Given the description of an element on the screen output the (x, y) to click on. 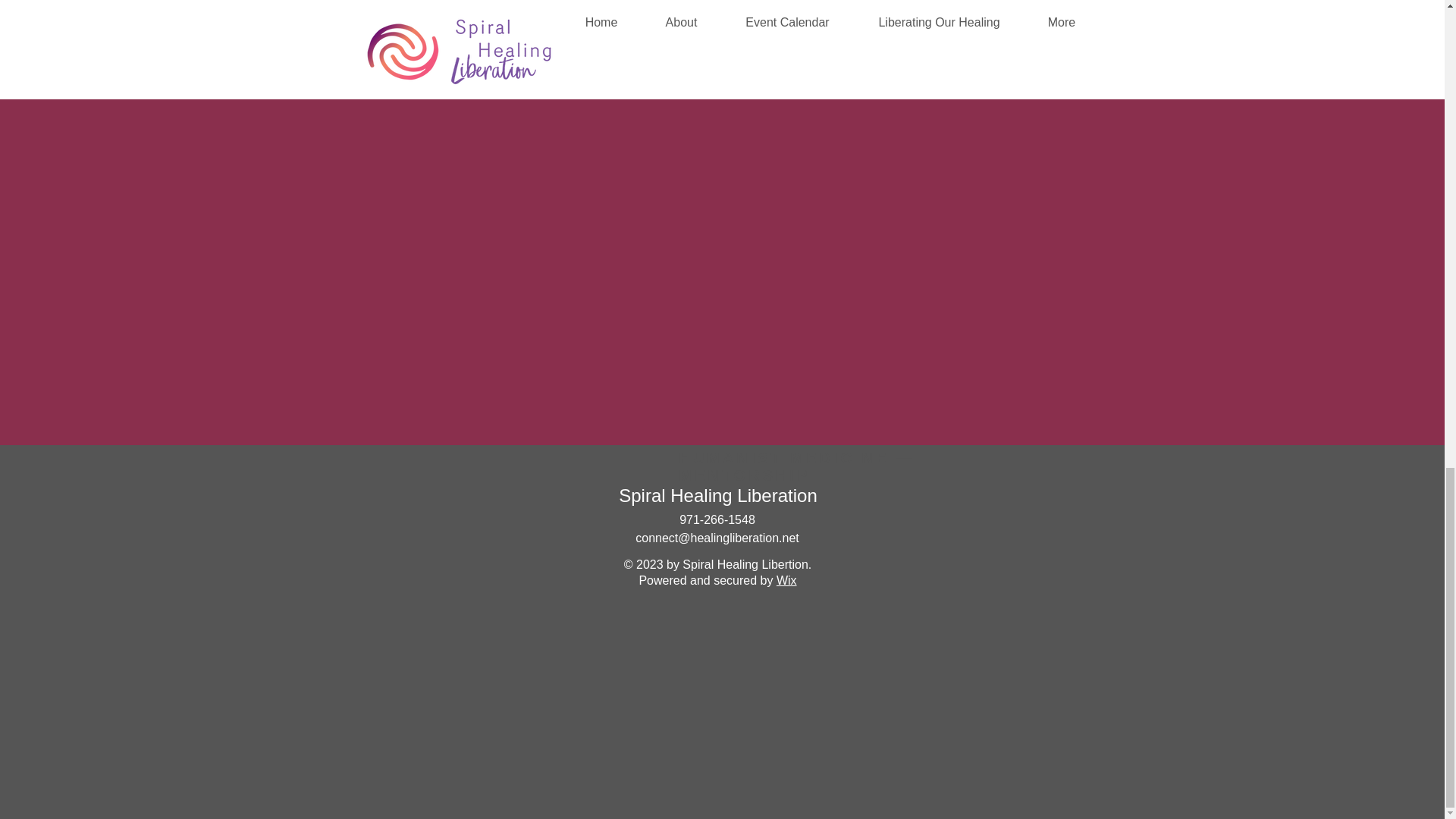
Wix (786, 580)
